Given the description of an element on the screen output the (x, y) to click on. 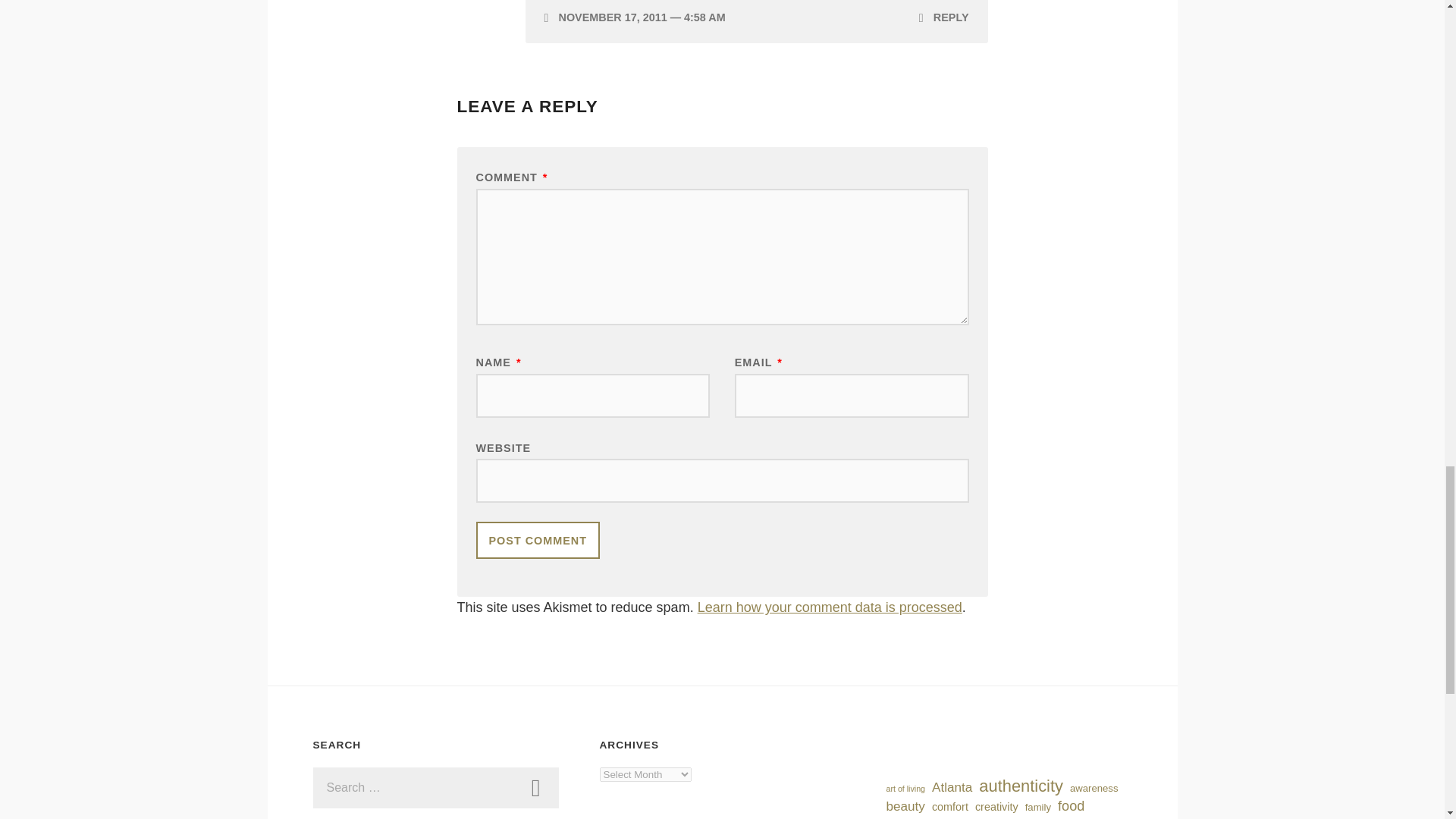
Post Comment (537, 539)
Search (534, 787)
Search (534, 787)
